Given the description of an element on the screen output the (x, y) to click on. 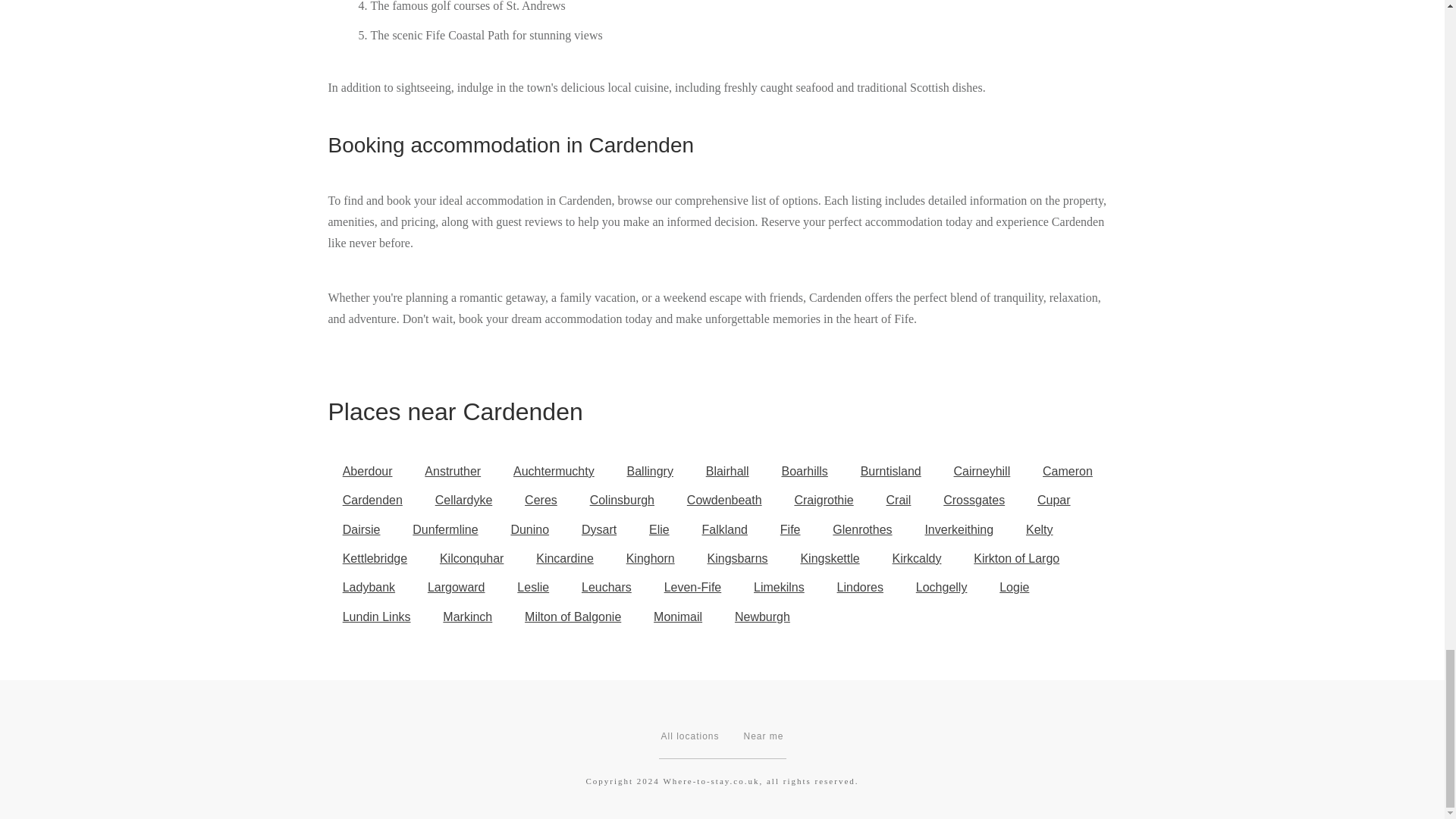
Colinsburgh (621, 500)
Ballingry (649, 471)
Aberdour (366, 471)
Burntisland (889, 471)
Auchtermuchty (553, 471)
Boarhills (805, 471)
Cairneyhill (982, 471)
Cellardyke (463, 500)
Ceres (541, 500)
Blairhall (726, 471)
